Given the description of an element on the screen output the (x, y) to click on. 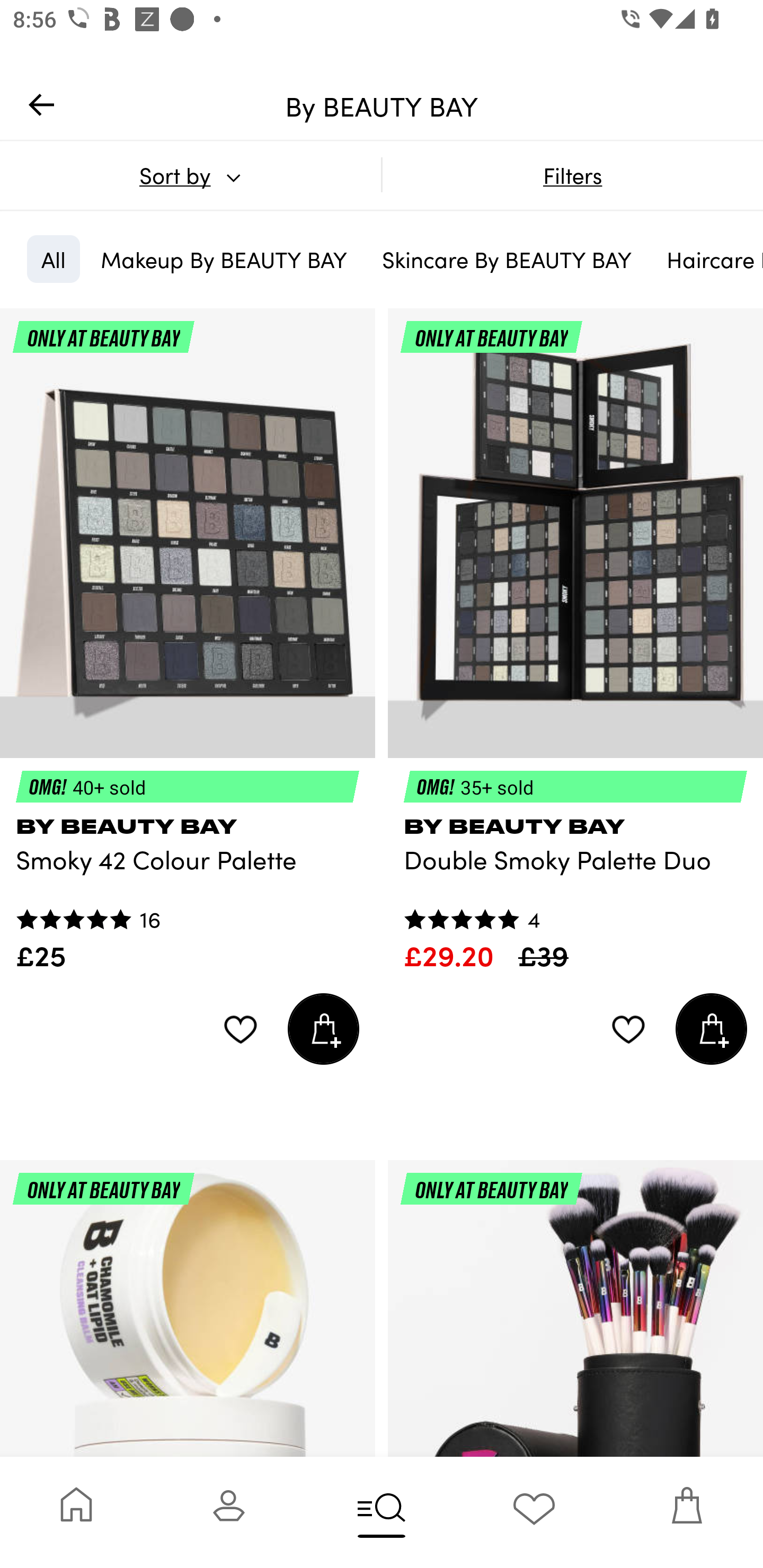
Sort by (190, 174)
Filters (572, 174)
All (53, 258)
Makeup By BEAUTY BAY (223, 258)
Skincare By BEAUTY BAY (506, 258)
Haircare By BEAUTY BAY (707, 258)
